Given the description of an element on the screen output the (x, y) to click on. 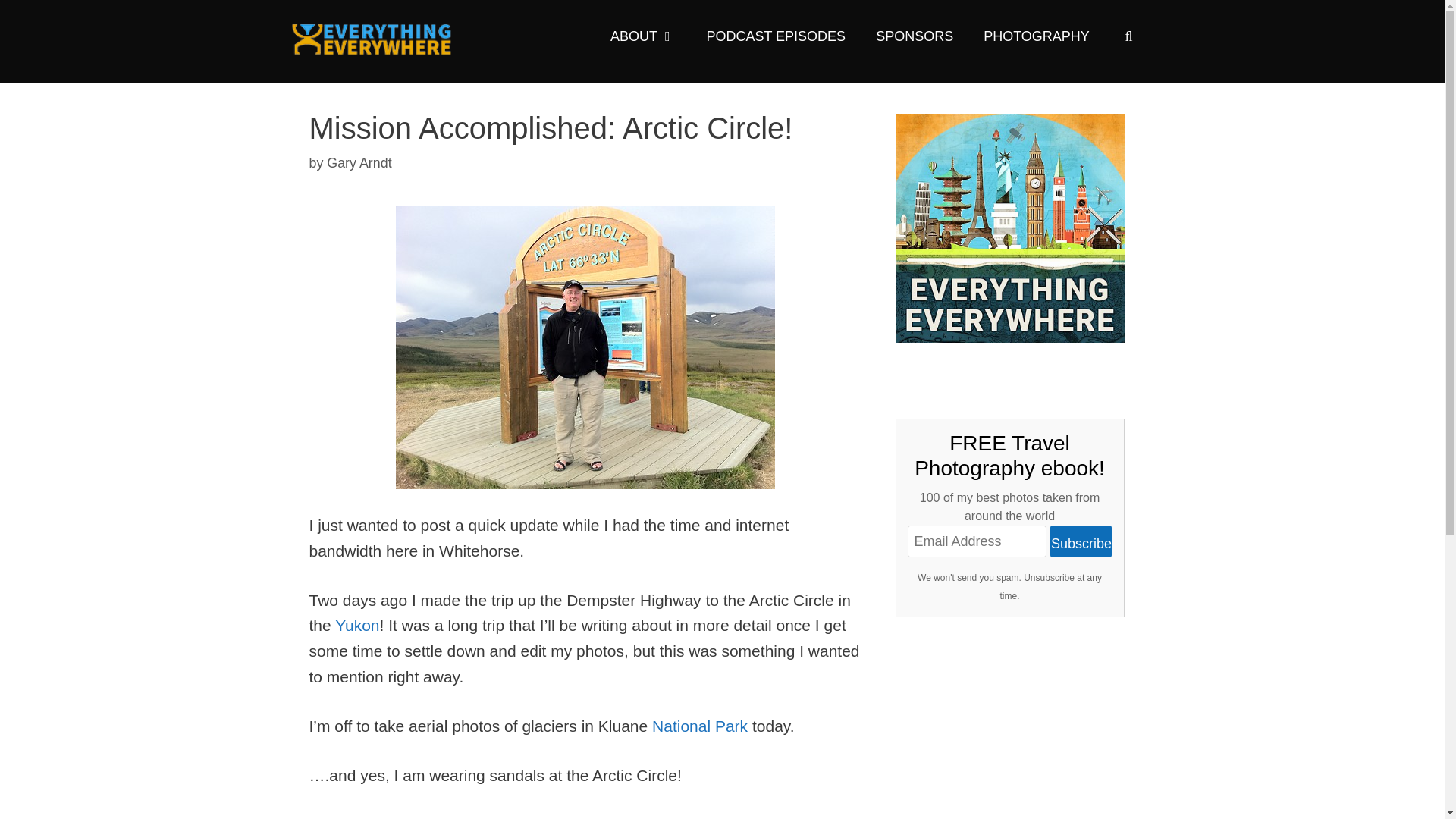
National Park (700, 725)
ABOUT (642, 36)
SPONSORS (914, 36)
View all posts by Gary Arndt (358, 162)
Gary Arndt (358, 162)
Search (41, 20)
Gary at the Arctic Circle (585, 346)
PODCAST EPISODES (775, 36)
PHOTOGRAPHY (1036, 36)
Yukon (345, 818)
Subscribe (1080, 541)
Yukon (356, 624)
